Given the description of an element on the screen output the (x, y) to click on. 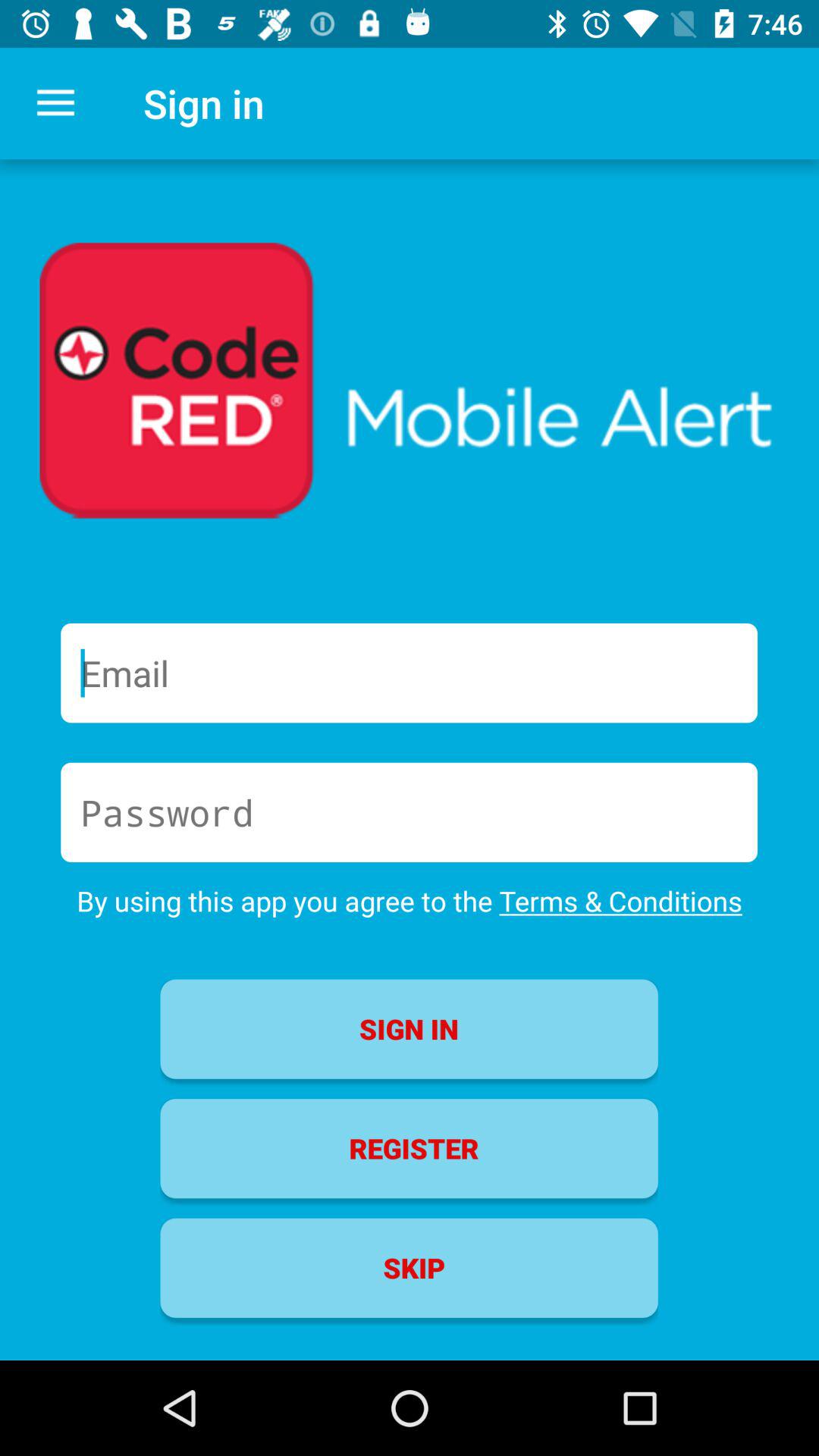
turn off the skip item (409, 1267)
